Given the description of an element on the screen output the (x, y) to click on. 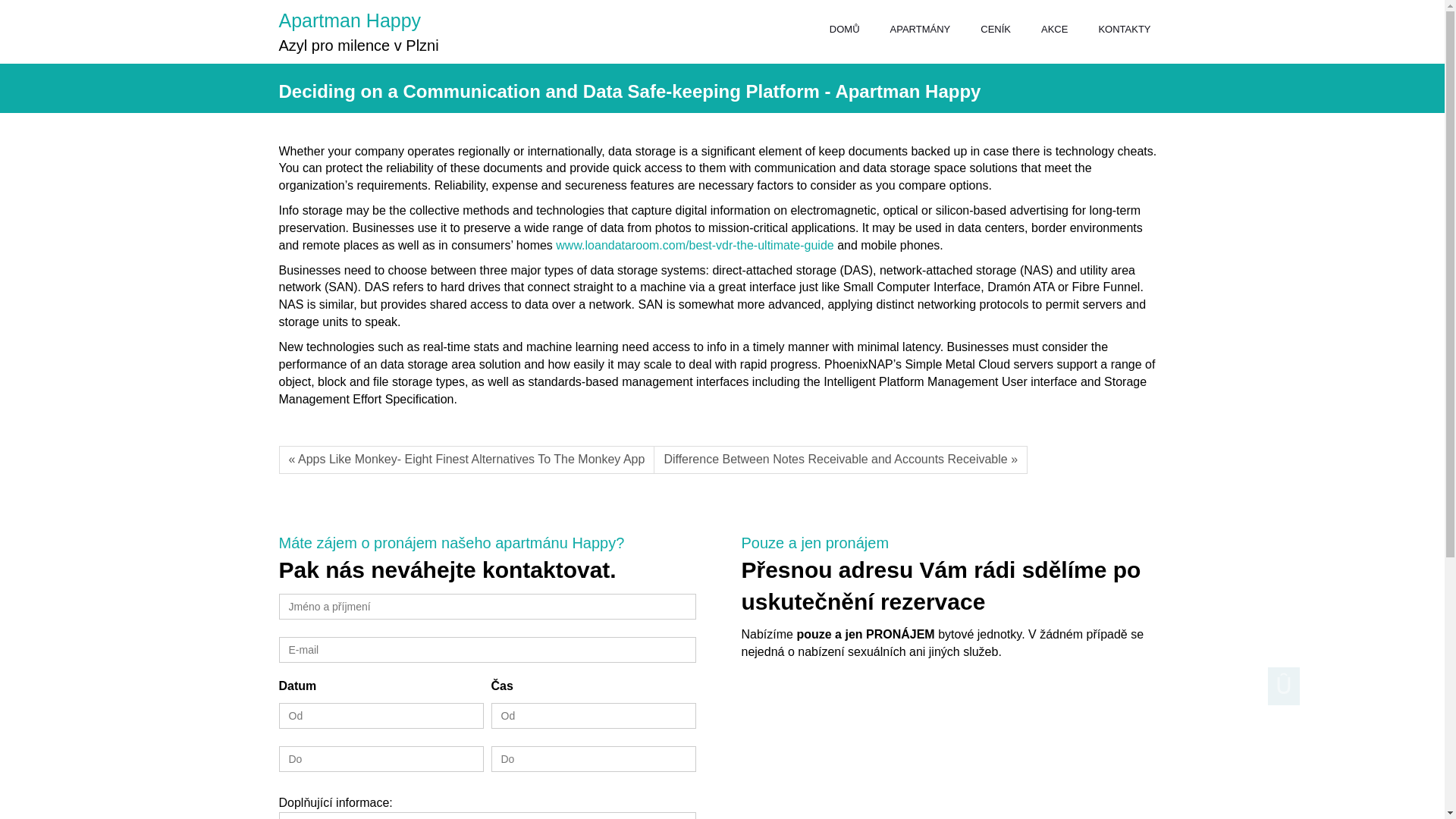
Apartman Happy (350, 20)
AKCE (1054, 30)
KONTAKTY (1124, 30)
Difference Between Notes Receivable and Accounts Receivable (840, 459)
